Given the description of an element on the screen output the (x, y) to click on. 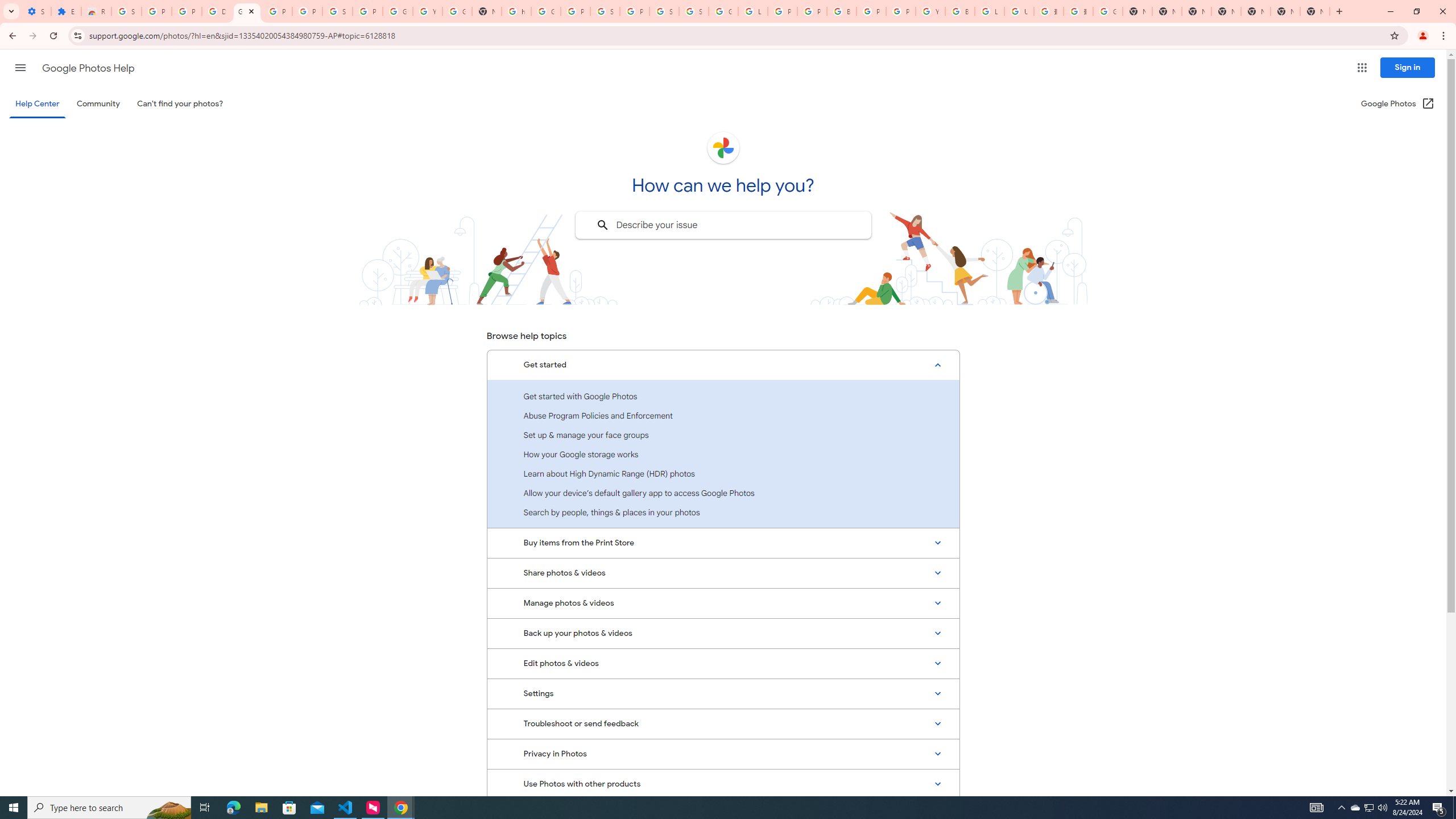
Get started with Google Photos (722, 396)
Reviews: Helix Fruit Jump Arcade Game (95, 11)
Google Account (397, 11)
Delete photos & videos - Computer - Google Photos Help (216, 11)
Sign in - Google Accounts (693, 11)
Learn about High Dynamic Range (HDR) photos (722, 473)
Search (601, 225)
